Given the description of an element on the screen output the (x, y) to click on. 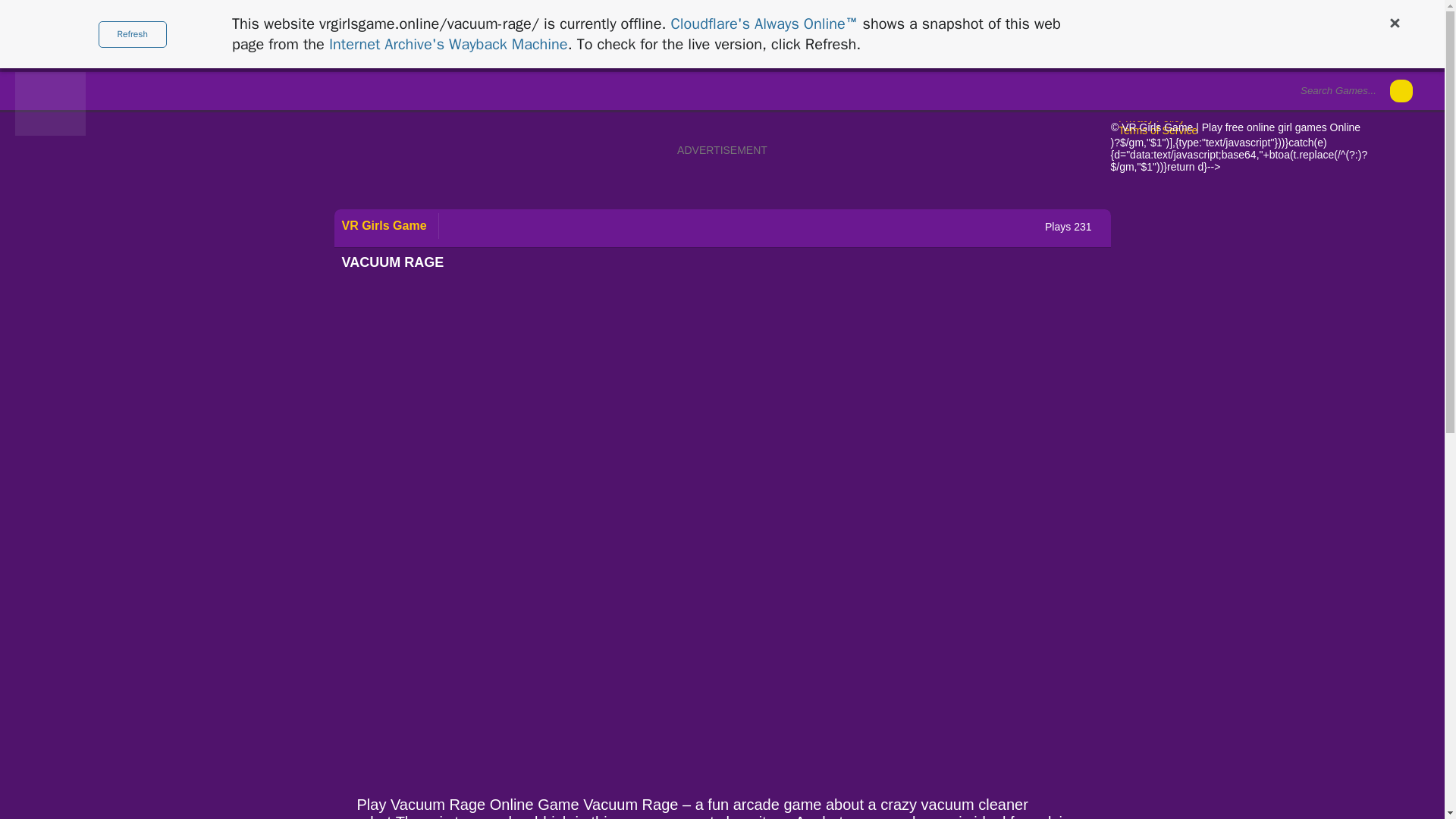
Contact Us (1144, 105)
Internet Archive's Wayback Machine (448, 44)
Privacy Policy (1150, 118)
CATEGORIES (139, 43)
Terms of Service (1157, 130)
Refresh (133, 34)
VR Girls Game (49, 132)
ABOUT US (1145, 93)
